Given the description of an element on the screen output the (x, y) to click on. 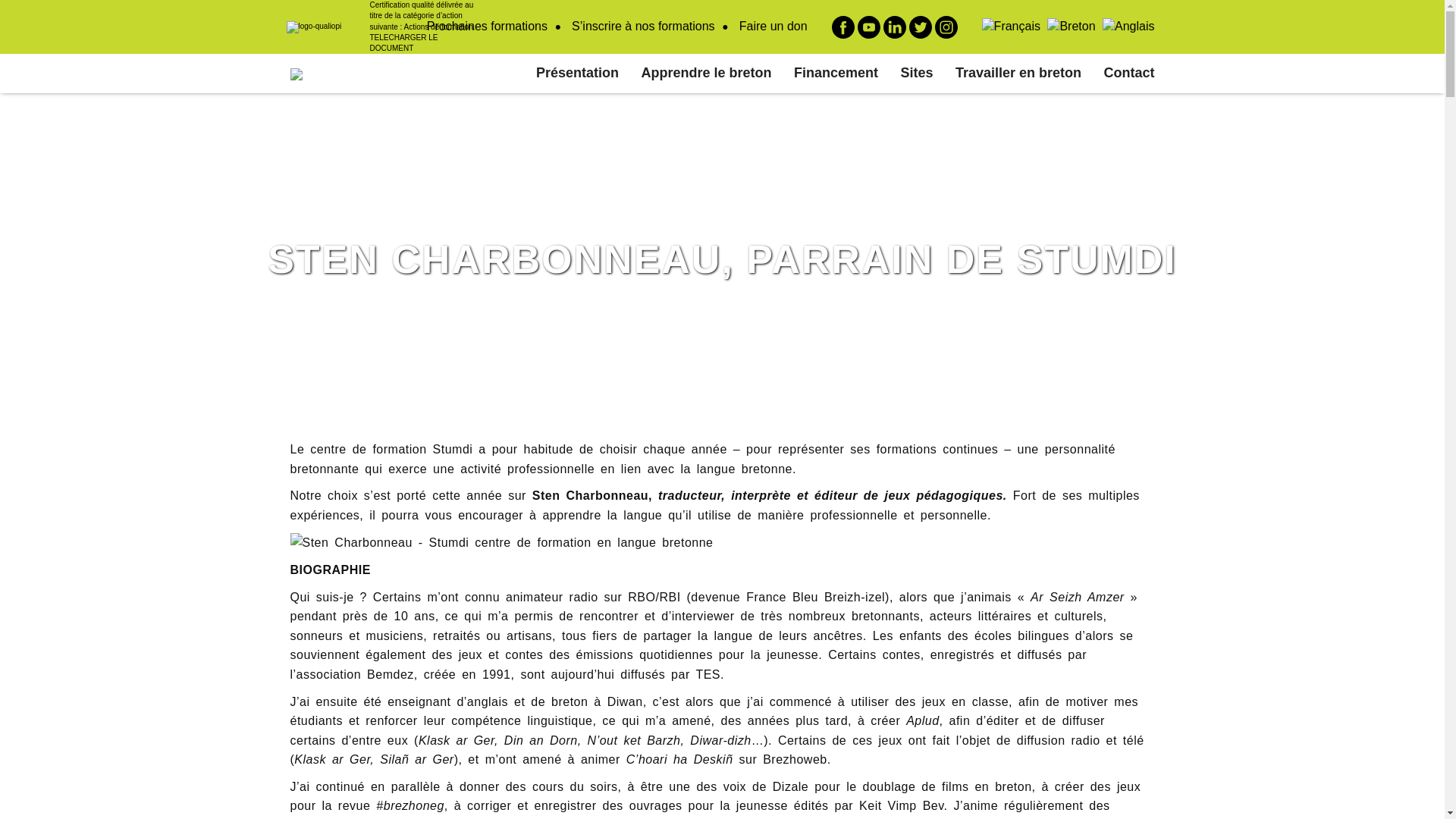
Faire un don Element type: text (773, 25)
Apprendre le breton Element type: text (706, 73)
Youtube Element type: text (868, 26)
Travailler en breton Element type: text (1018, 73)
Instagram Element type: text (946, 26)
Facebook Element type: text (842, 26)
LinkedIn Element type: text (894, 26)
Twitter Element type: text (920, 26)
Financement Element type: text (835, 73)
Sites Element type: text (916, 73)
Prochaines formations Element type: text (486, 25)
Contact Element type: text (1129, 73)
